Given the description of an element on the screen output the (x, y) to click on. 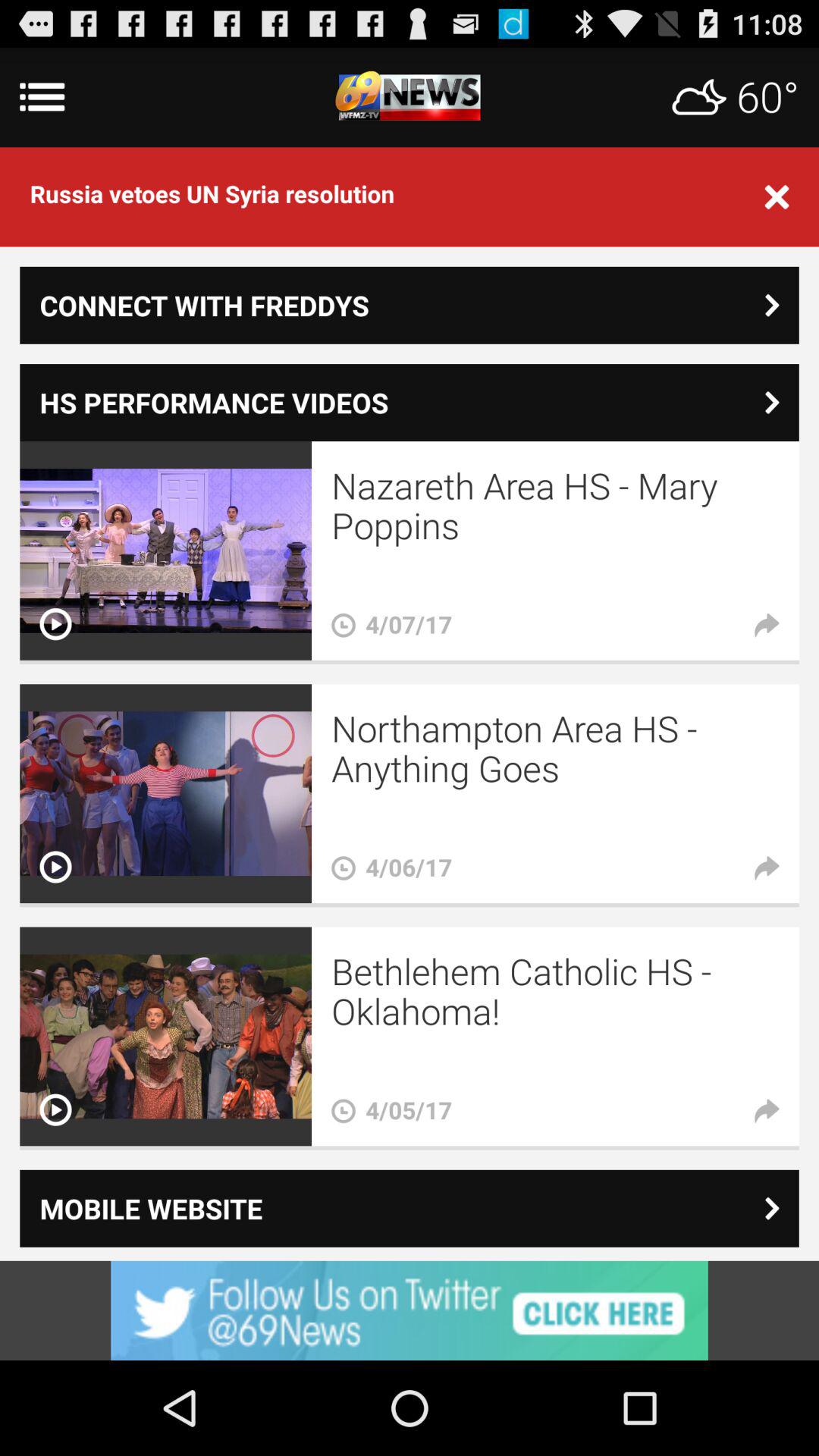
main menu (409, 97)
